Given the description of an element on the screen output the (x, y) to click on. 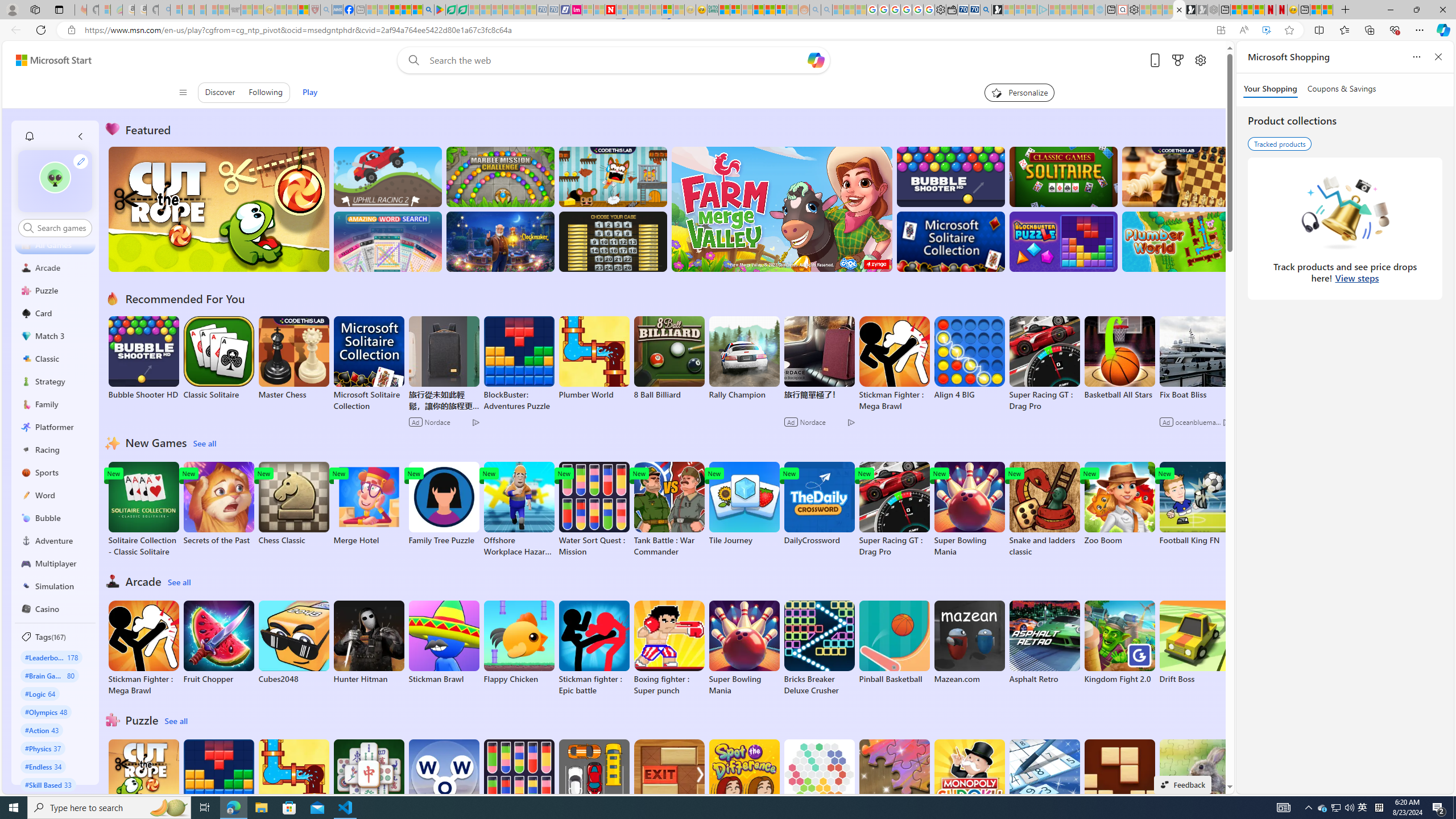
#Brain Games 80 (49, 675)
#Leaderboard 178 (51, 657)
Amazing Word Search (387, 241)
Personalize your feed" (1019, 92)
Family Tree Puzzle (443, 503)
Microsoft Word - consumer-privacy address update 2.2021 (462, 9)
Classic Solitaire (218, 358)
Kinda Frugal - MSN (769, 9)
